Given the description of an element on the screen output the (x, y) to click on. 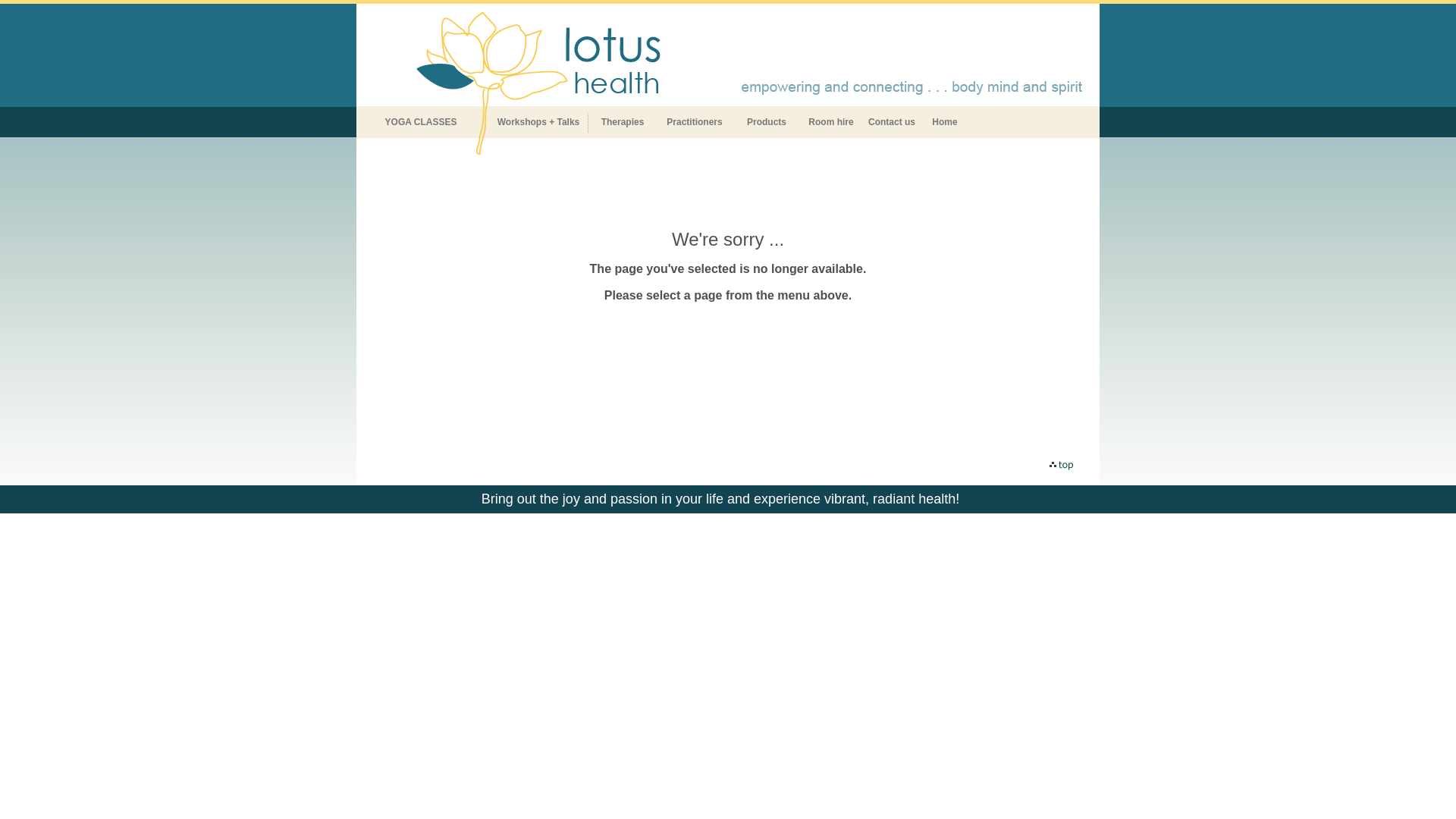
YOGA CLASSES Element type: text (420, 121)
Contact us Element type: text (891, 121)
Practitioners Element type: text (694, 121)
Workshops + Talks Element type: text (538, 121)
Room hire Element type: text (830, 121)
Products Element type: text (766, 121)
Therapies Element type: text (622, 121)
Home Element type: text (944, 121)
